Given the description of an element on the screen output the (x, y) to click on. 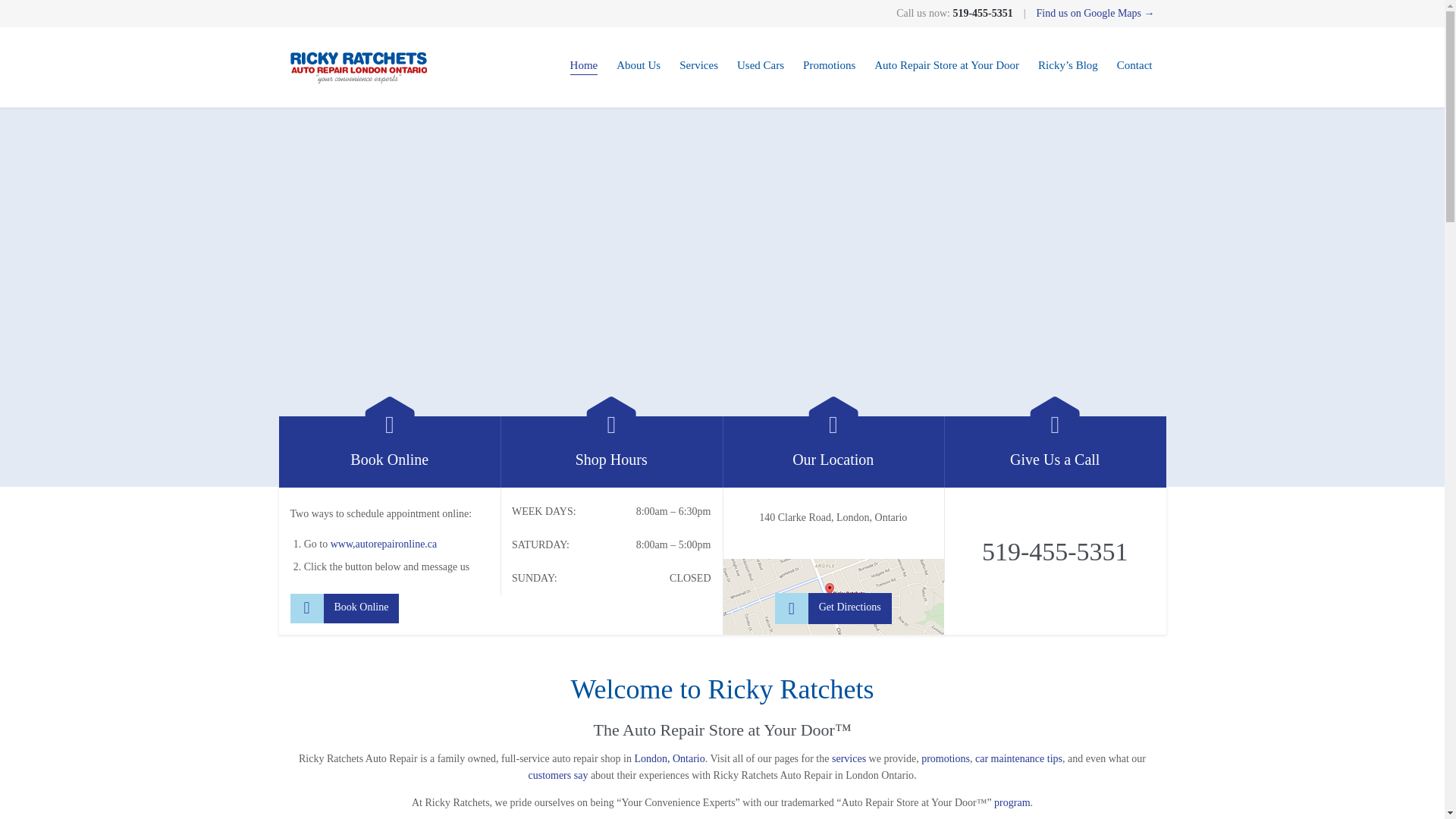
Auto Repair Store at Your Door (947, 66)
About Us (638, 66)
www,autorepaironline.ca (384, 543)
Used Cars (760, 66)
services (848, 758)
Services (698, 66)
Promotions (829, 66)
Contact (1134, 66)
